Given the description of an element on the screen output the (x, y) to click on. 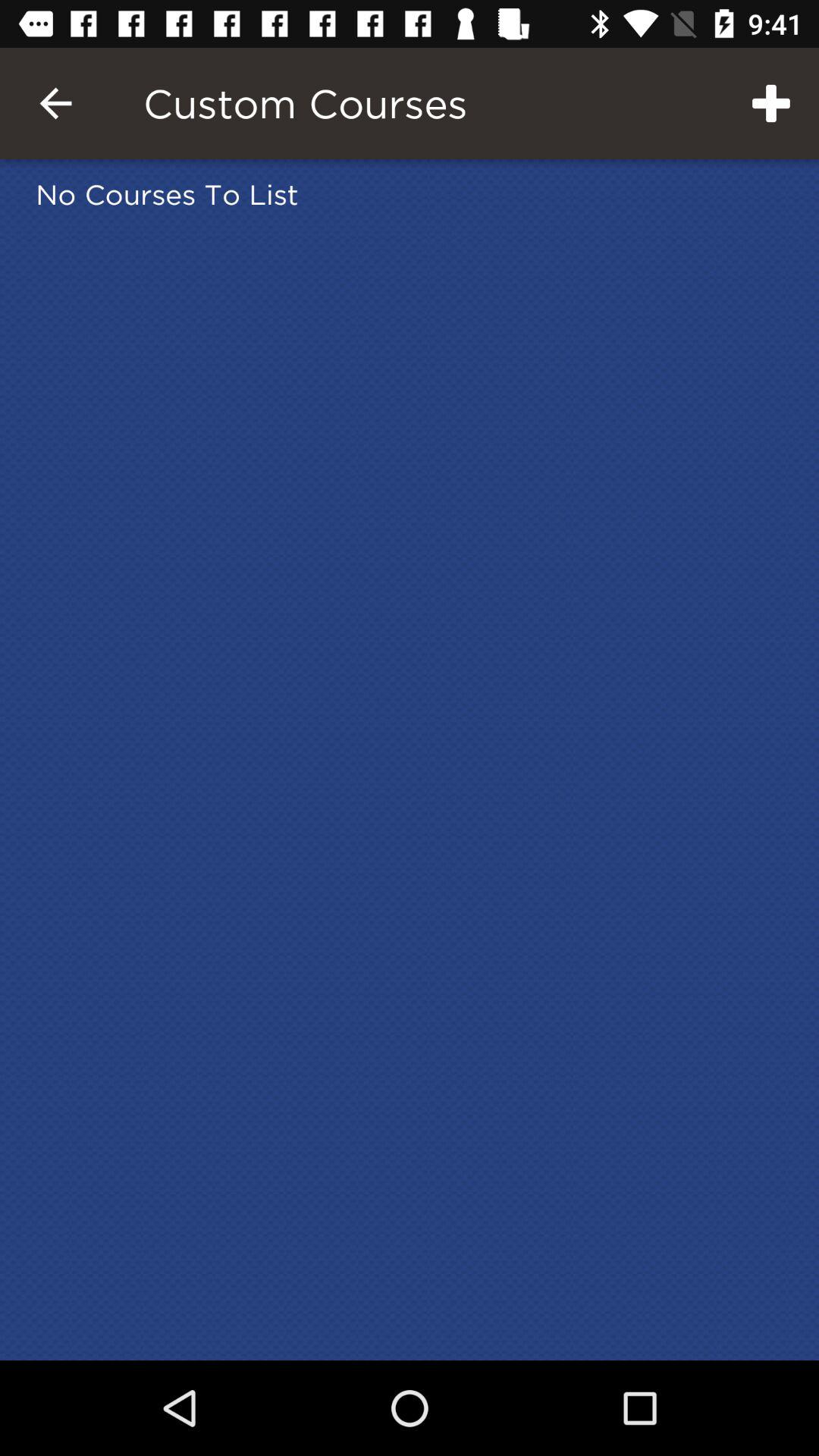
press item next to the custom courses icon (55, 103)
